Given the description of an element on the screen output the (x, y) to click on. 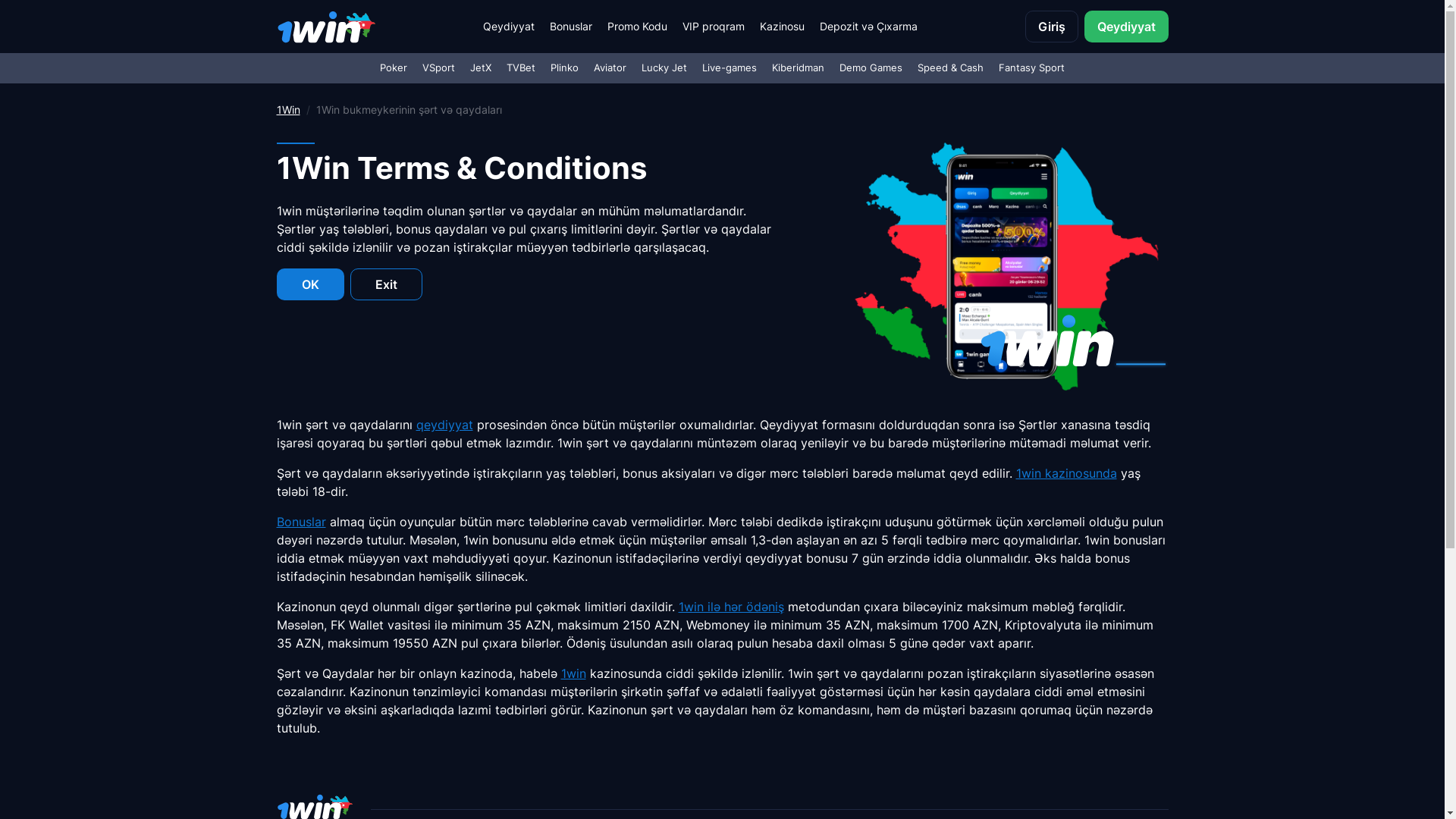
Qeydiyyat Element type: text (508, 26)
VSport Element type: text (438, 67)
TVBet Element type: text (520, 67)
VIP proqram Element type: text (713, 26)
Bonuslar Element type: text (300, 521)
Lucky Jet Element type: text (664, 67)
Fantasy Sport Element type: text (1031, 67)
OK Element type: text (309, 284)
1win Element type: text (573, 672)
Poker Element type: text (393, 67)
Speed & Cash Element type: text (950, 67)
Kazinosu Element type: text (781, 26)
Exit Element type: text (386, 284)
qeydiyyat Element type: text (443, 424)
JetX Element type: text (480, 67)
Live-games Element type: text (729, 67)
Plinko Element type: text (564, 67)
1win kazinosunda Element type: text (1066, 472)
Promo Kodu Element type: text (637, 26)
Qeydiyyat Element type: text (1126, 26)
Kiberidman Element type: text (797, 67)
Bonuslar Element type: text (570, 26)
Aviator Element type: text (609, 67)
1Win Element type: text (287, 109)
Demo Games Element type: text (870, 67)
